Given the description of an element on the screen output the (x, y) to click on. 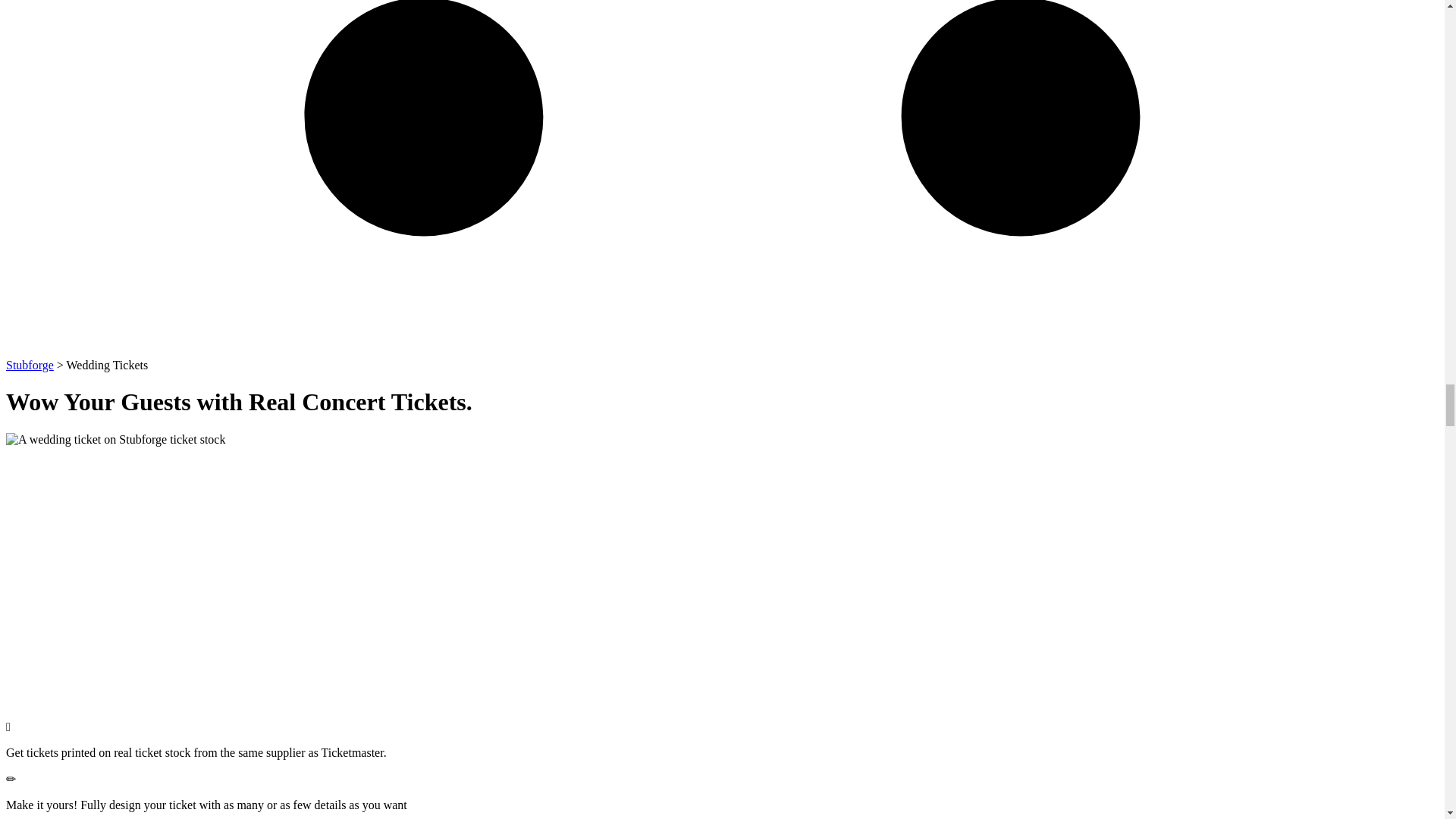
Stubforge (29, 364)
